Given the description of an element on the screen output the (x, y) to click on. 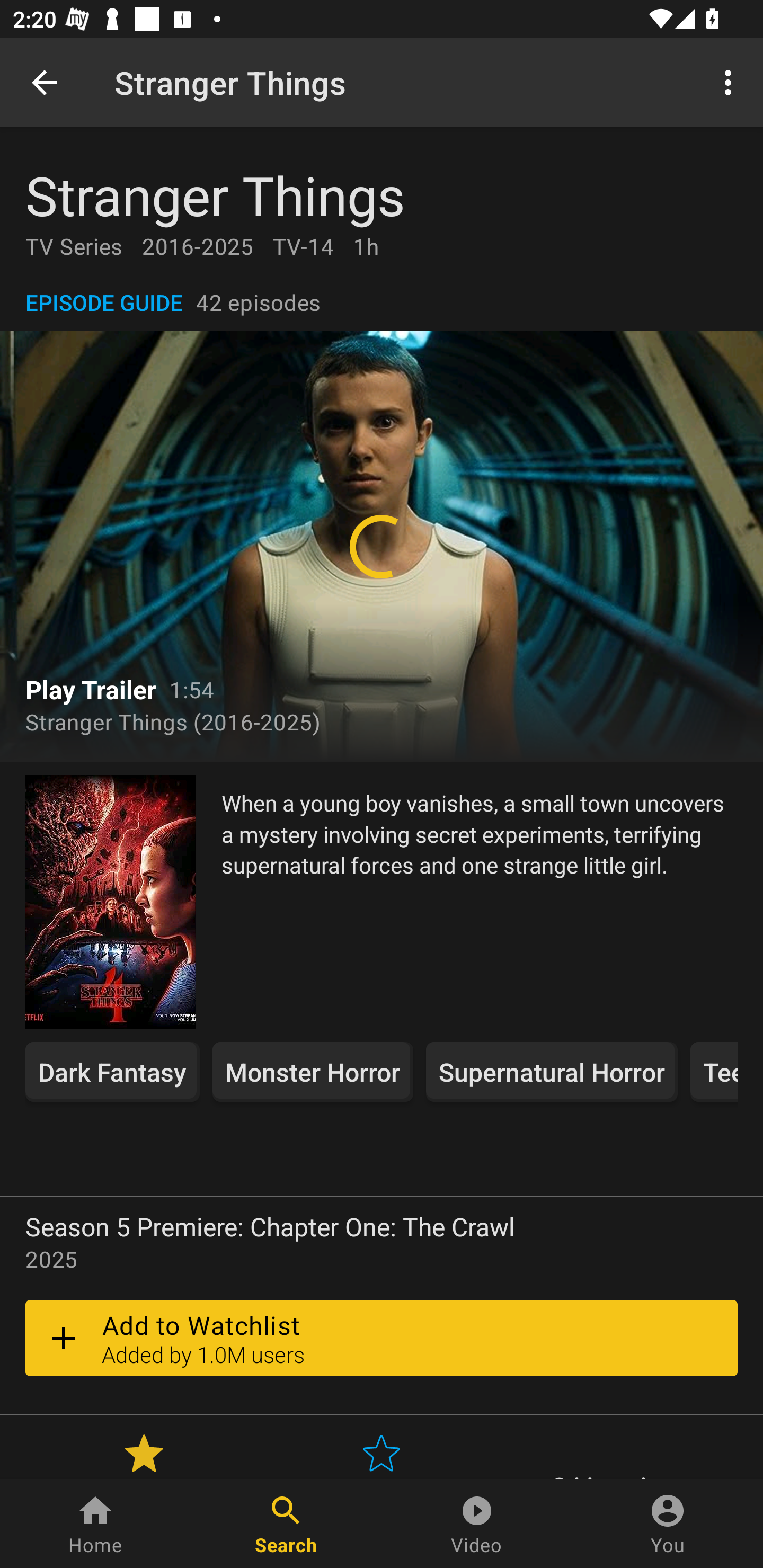
More options (731, 81)
EPISODE GUIDE 42 episodes (381, 302)
Dark Fantasy (112, 1072)
Monster Horror (312, 1072)
Supernatural Horror (551, 1072)
Season 5 Premiere: Chapter One: The Crawl 2025 (381, 1241)
Add to Watchlist Added by 1.0M users (381, 1338)
8.7 (143, 1452)
Rate this (381, 1452)
Home (95, 1523)
Video (476, 1523)
You (667, 1523)
